Given the description of an element on the screen output the (x, y) to click on. 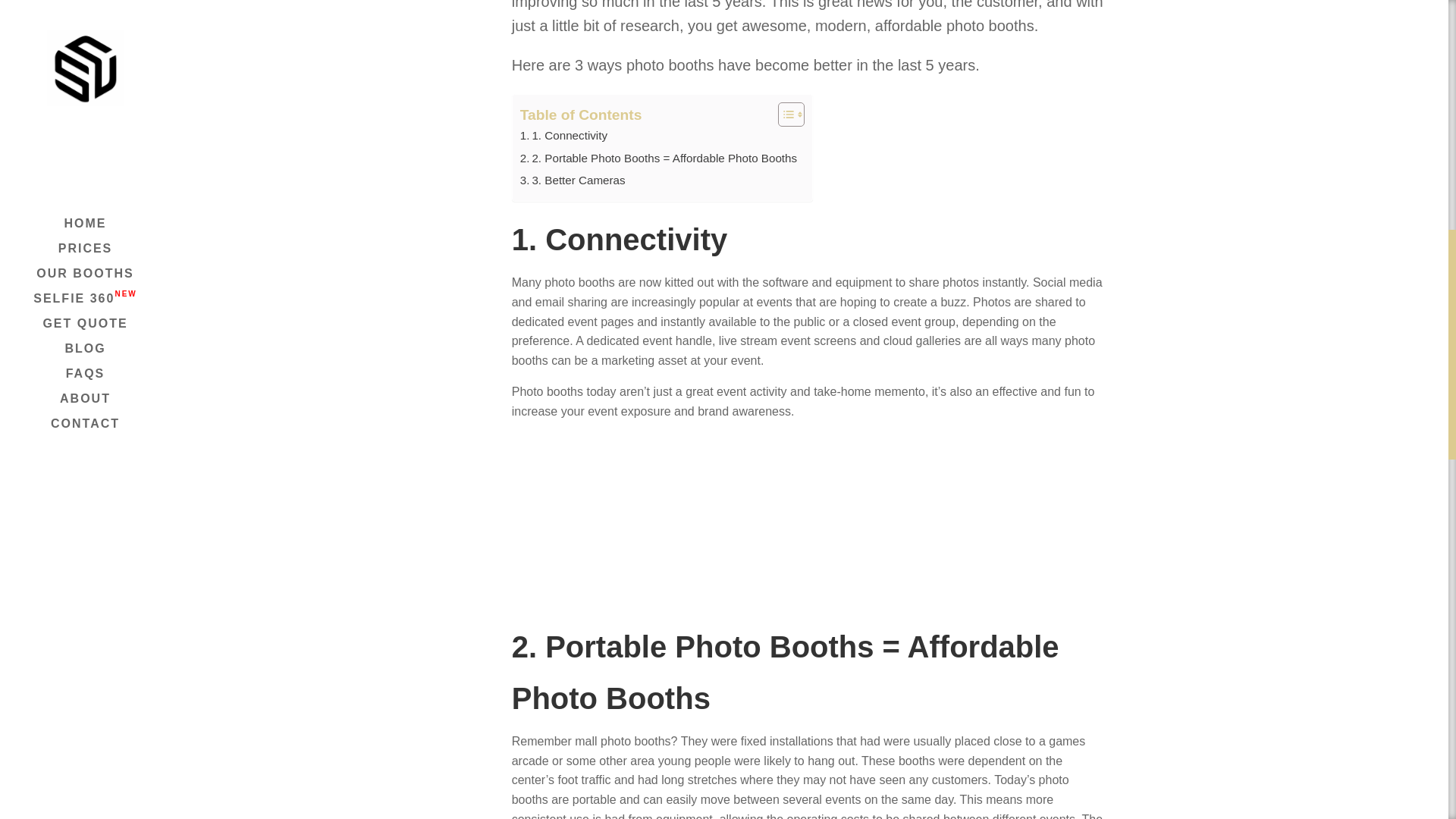
1. Connectivity (563, 137)
3. Better Cameras (572, 182)
3. Better Cameras (572, 182)
1. Connectivity (563, 137)
sharing affordable photo booths (809, 521)
